Given the description of an element on the screen output the (x, y) to click on. 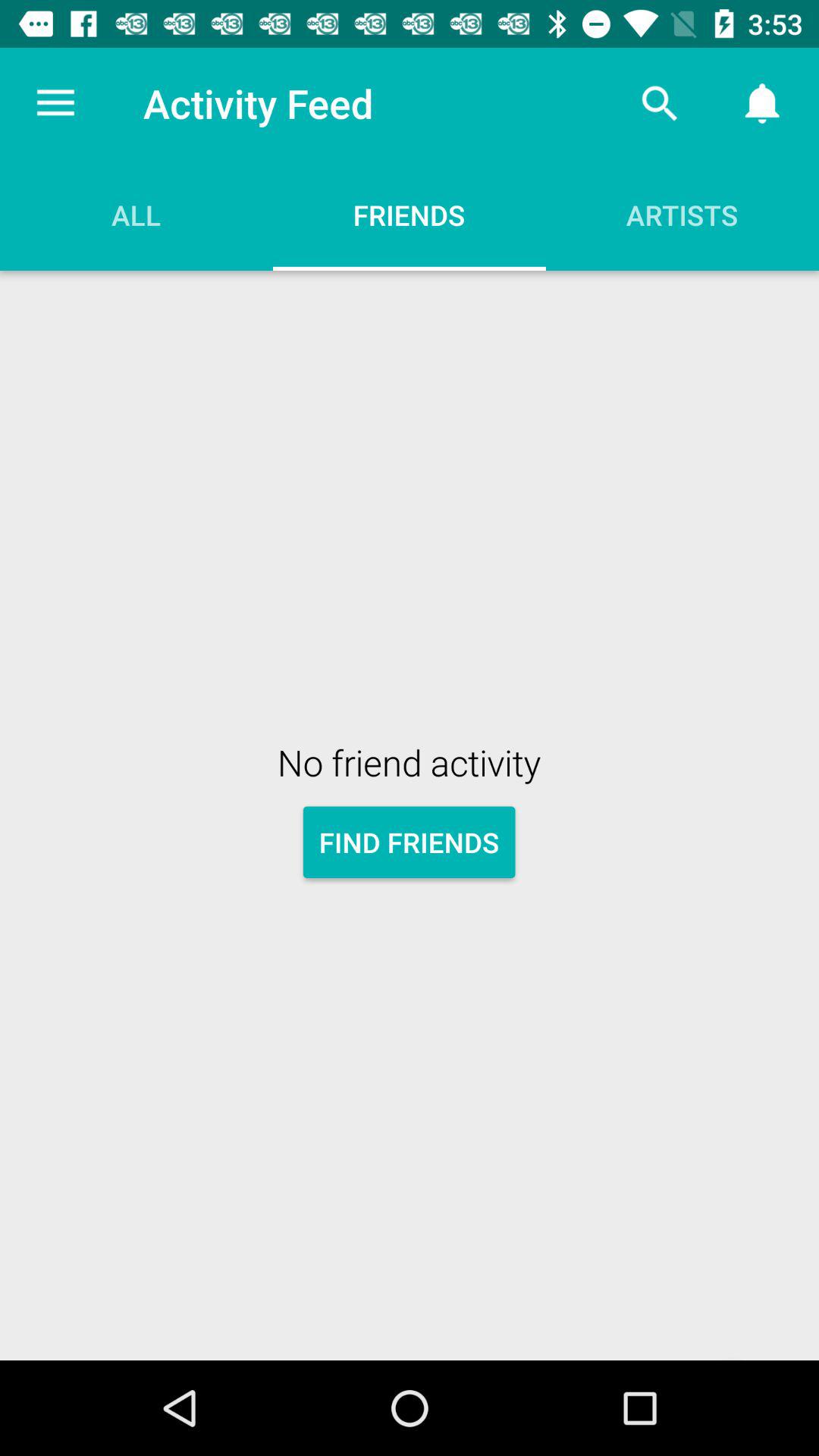
select the item next to activity feed (55, 103)
